Given the description of an element on the screen output the (x, y) to click on. 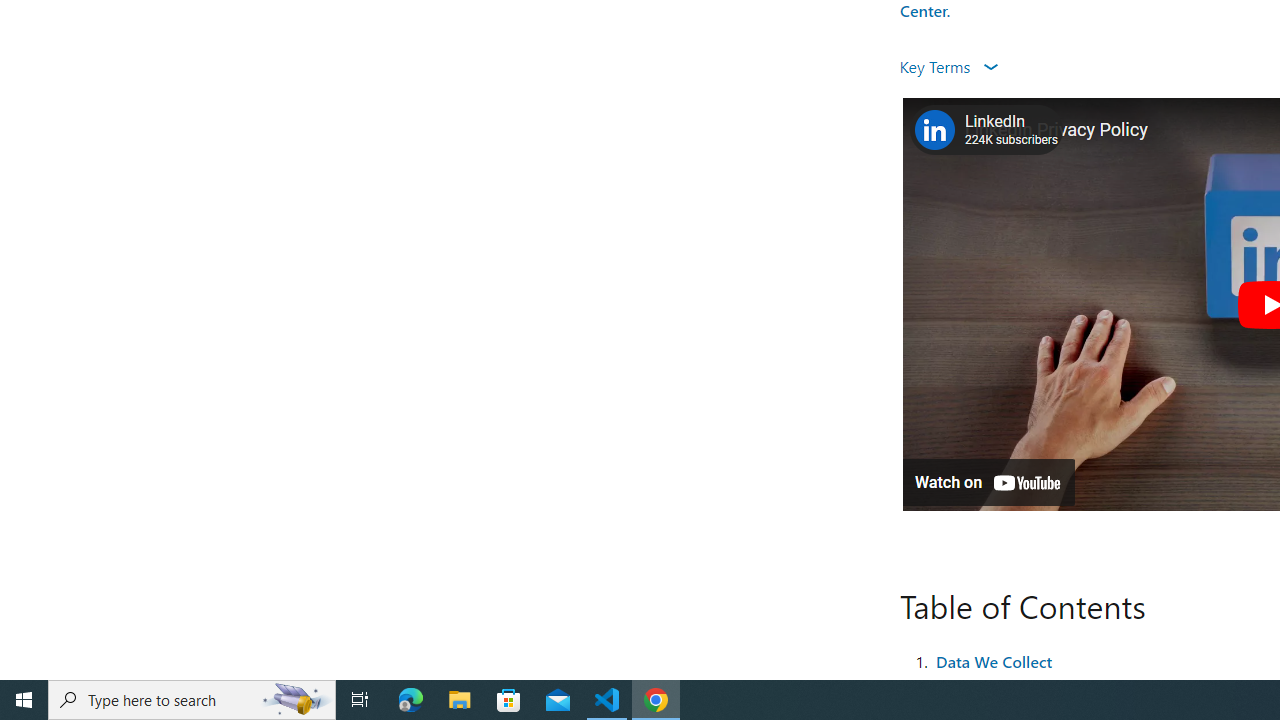
Watch on YouTube (988, 482)
Data We Collect (993, 660)
Photo image of LinkedIn (933, 129)
Key Terms  (948, 66)
